Given the description of an element on the screen output the (x, y) to click on. 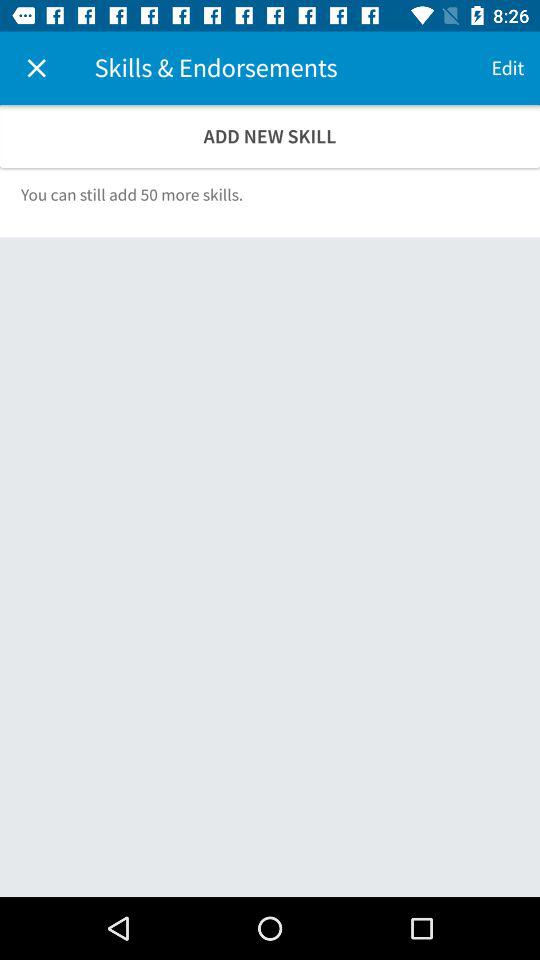
press item next to skills & endorsements (36, 68)
